Given the description of an element on the screen output the (x, y) to click on. 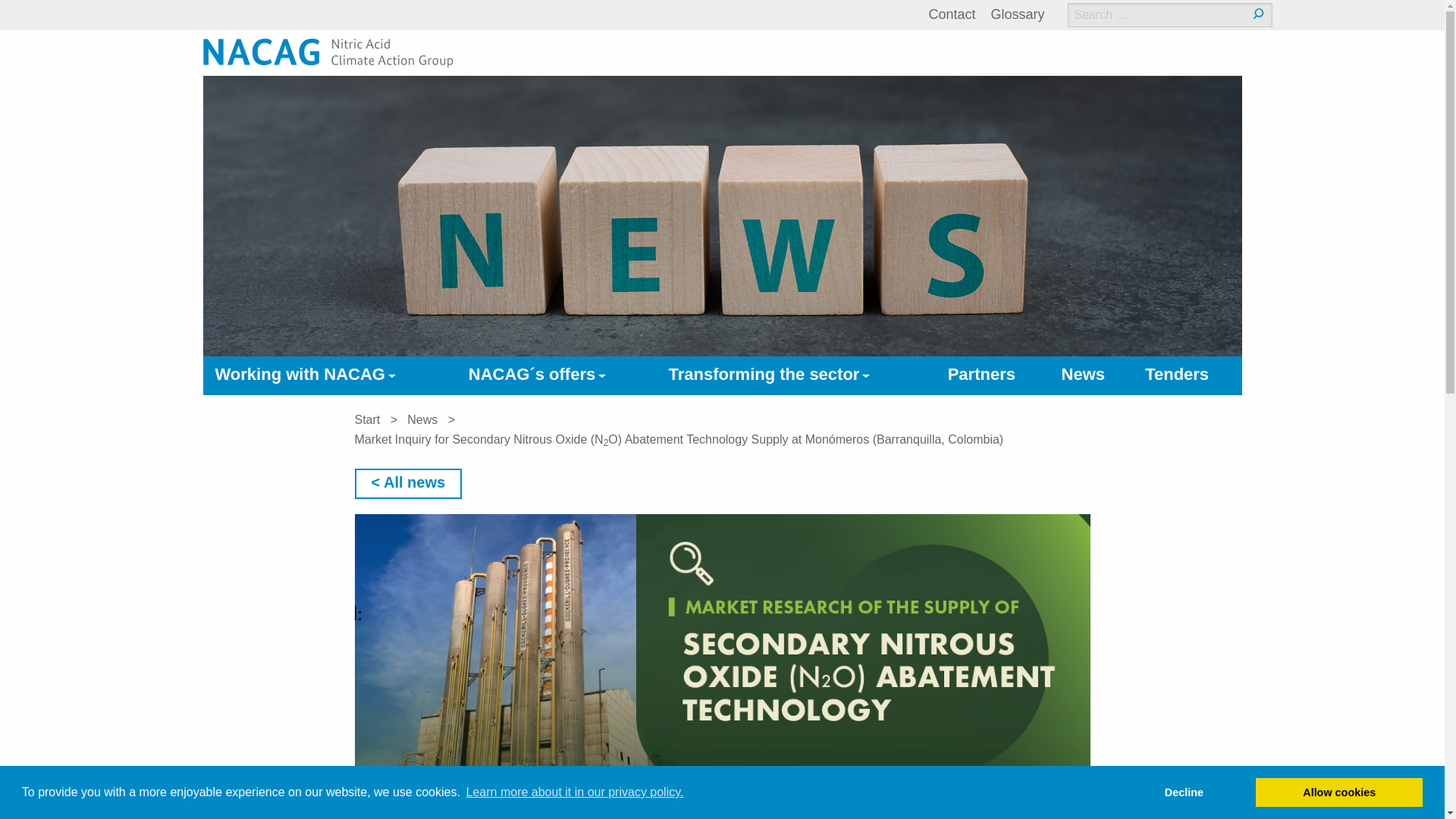
Transforming the sector (796, 376)
Learn more about it in our privacy policy. (574, 792)
Allow cookies (1338, 792)
Contact (951, 14)
Decline (1184, 792)
Glossary (1016, 14)
Working with NACAG (330, 376)
